Given the description of an element on the screen output the (x, y) to click on. 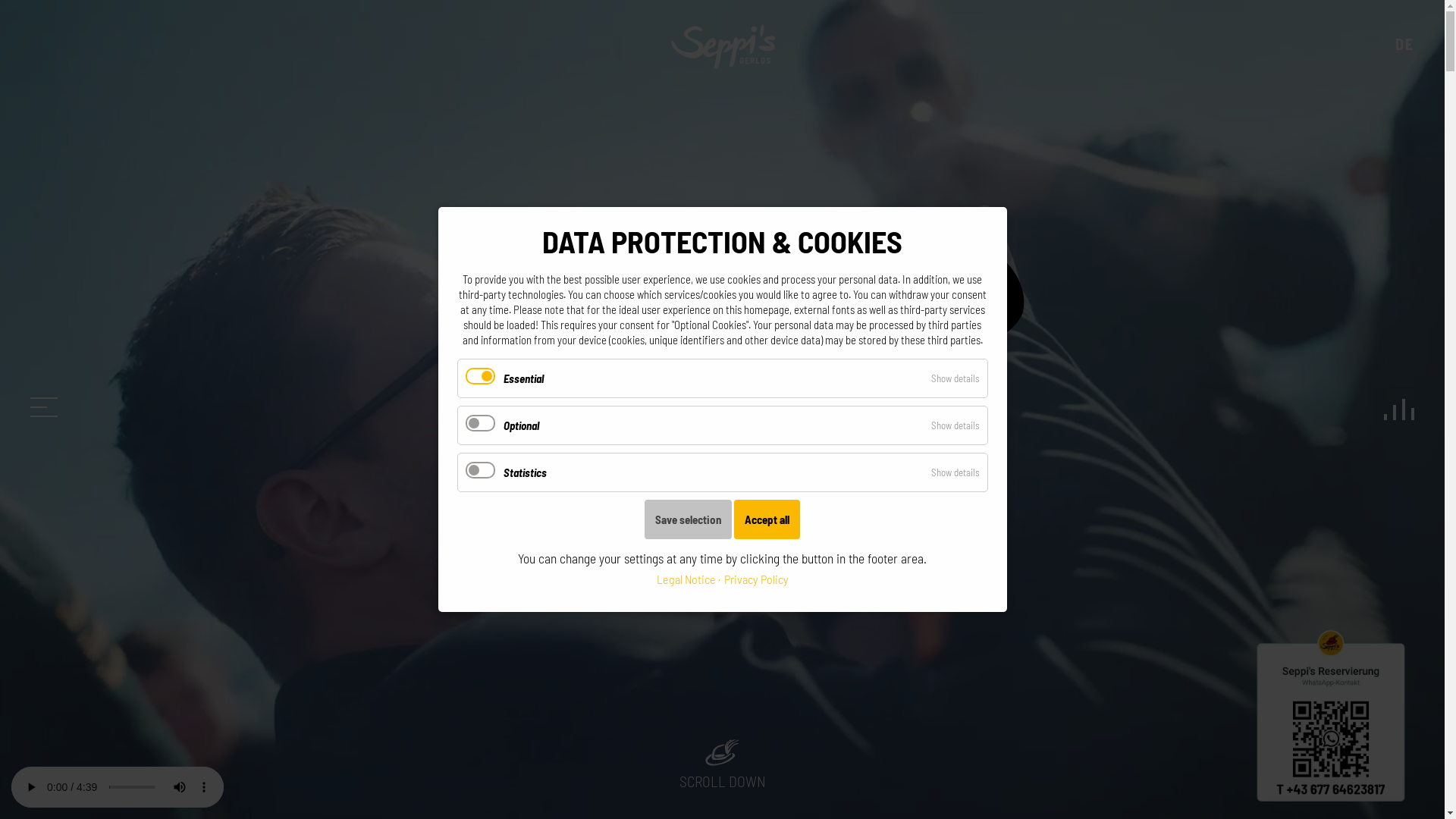
Privacy Policy Element type: text (752, 579)
DE Element type: text (1404, 43)
Show details Element type: text (955, 472)
Save selection Element type: text (687, 519)
Show details Element type: text (955, 378)
Seppis Mountain Club Element type: hover (722, 43)
Show details Element type: text (955, 425)
Legal Notice Element type: text (685, 579)
Accept all Element type: text (767, 519)
